Given the description of an element on the screen output the (x, y) to click on. 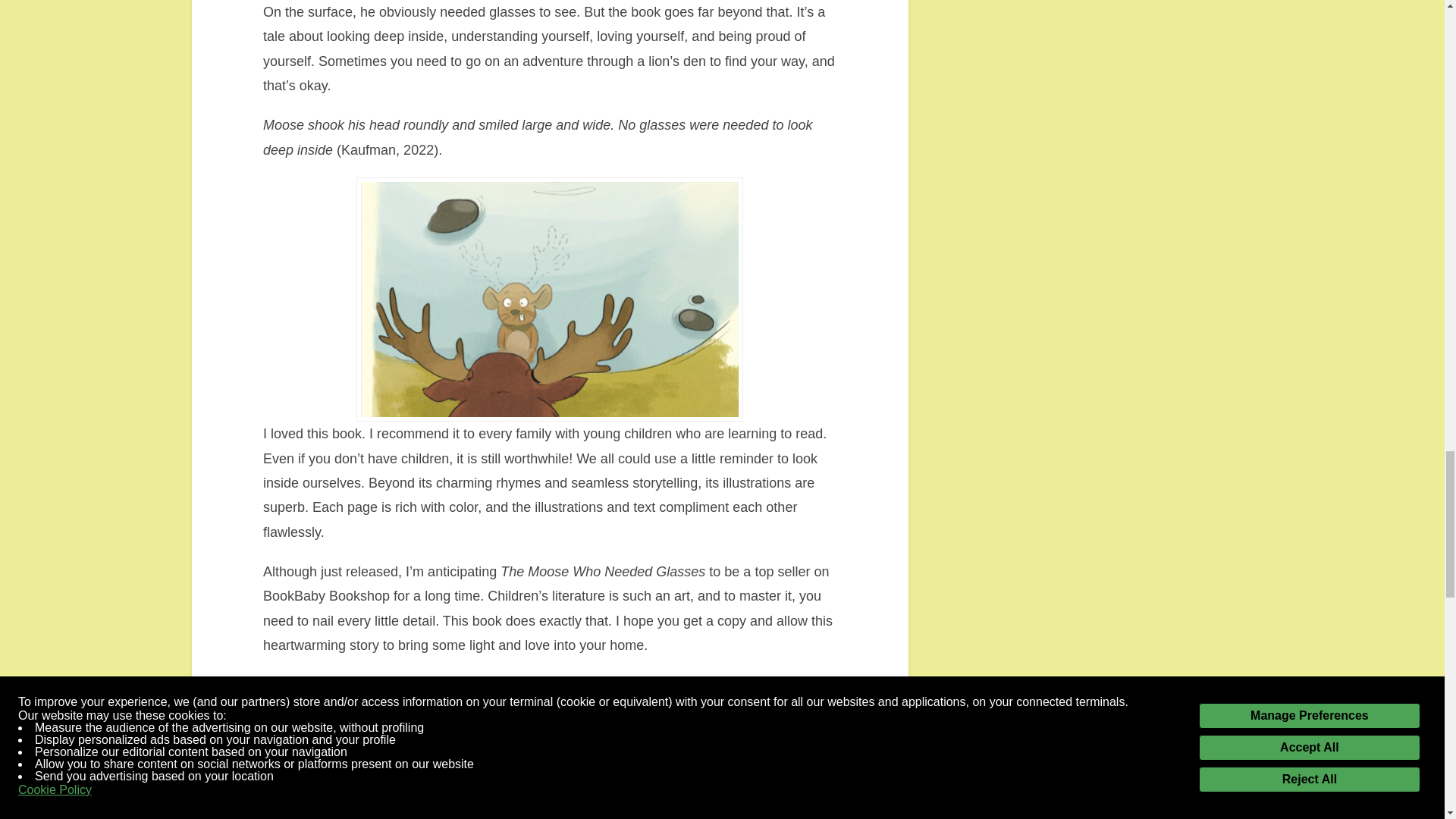
Three Spooktacular Halloween Books for Kids (523, 768)
Illustrated Books for Families this Fall (719, 768)
Three Spooktacular Halloween Books for Kids (523, 768)
Illustrated Books for Families this Fall (719, 768)
